Given the description of an element on the screen output the (x, y) to click on. 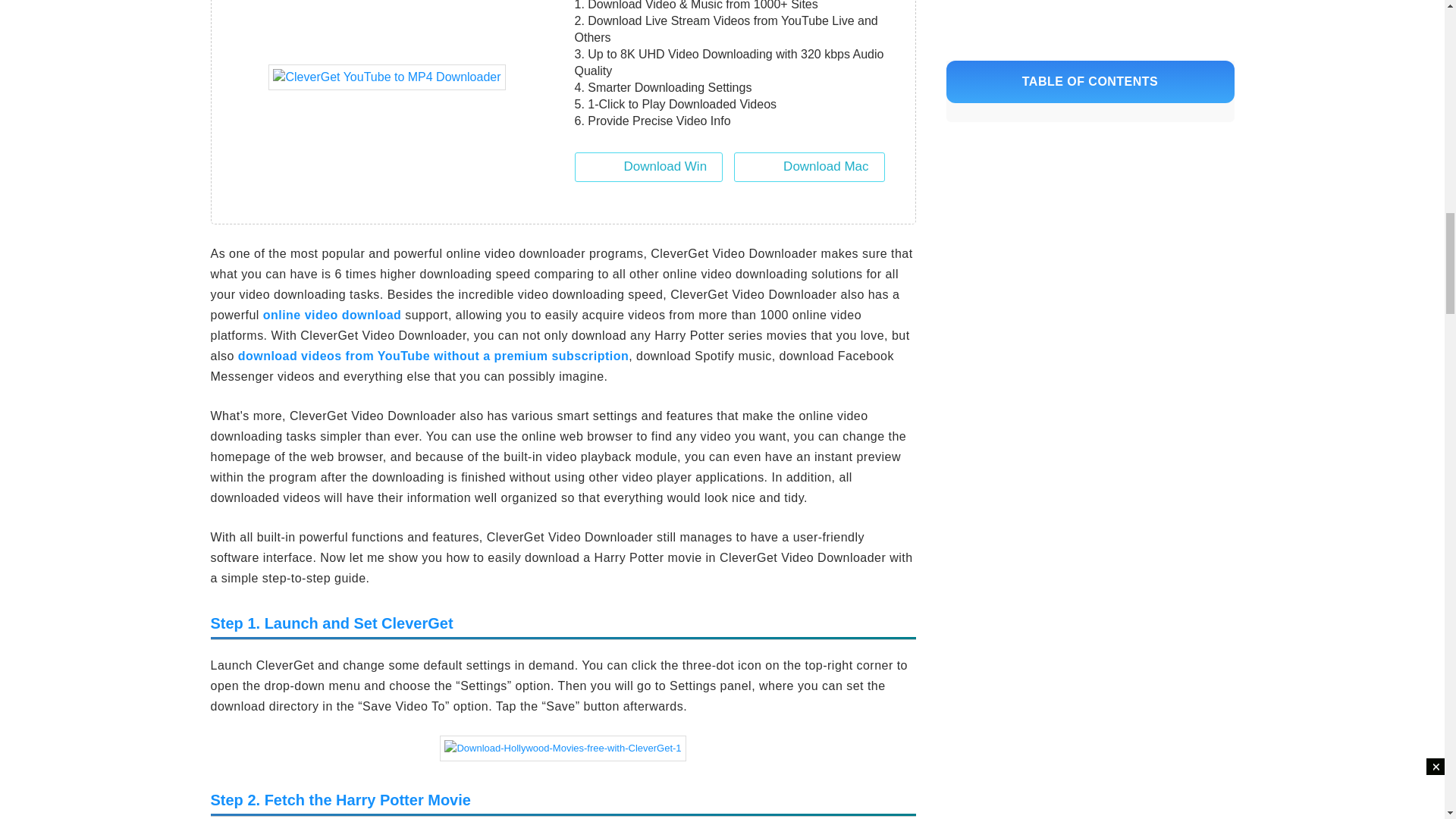
online video download (332, 314)
CleverGet (386, 77)
Download Win (649, 166)
Download Mac (808, 166)
online video download (332, 314)
download videos from YouTube without a premium subscription (433, 355)
download videos from YouTube without a premium subscription (433, 355)
